Given the description of an element on the screen output the (x, y) to click on. 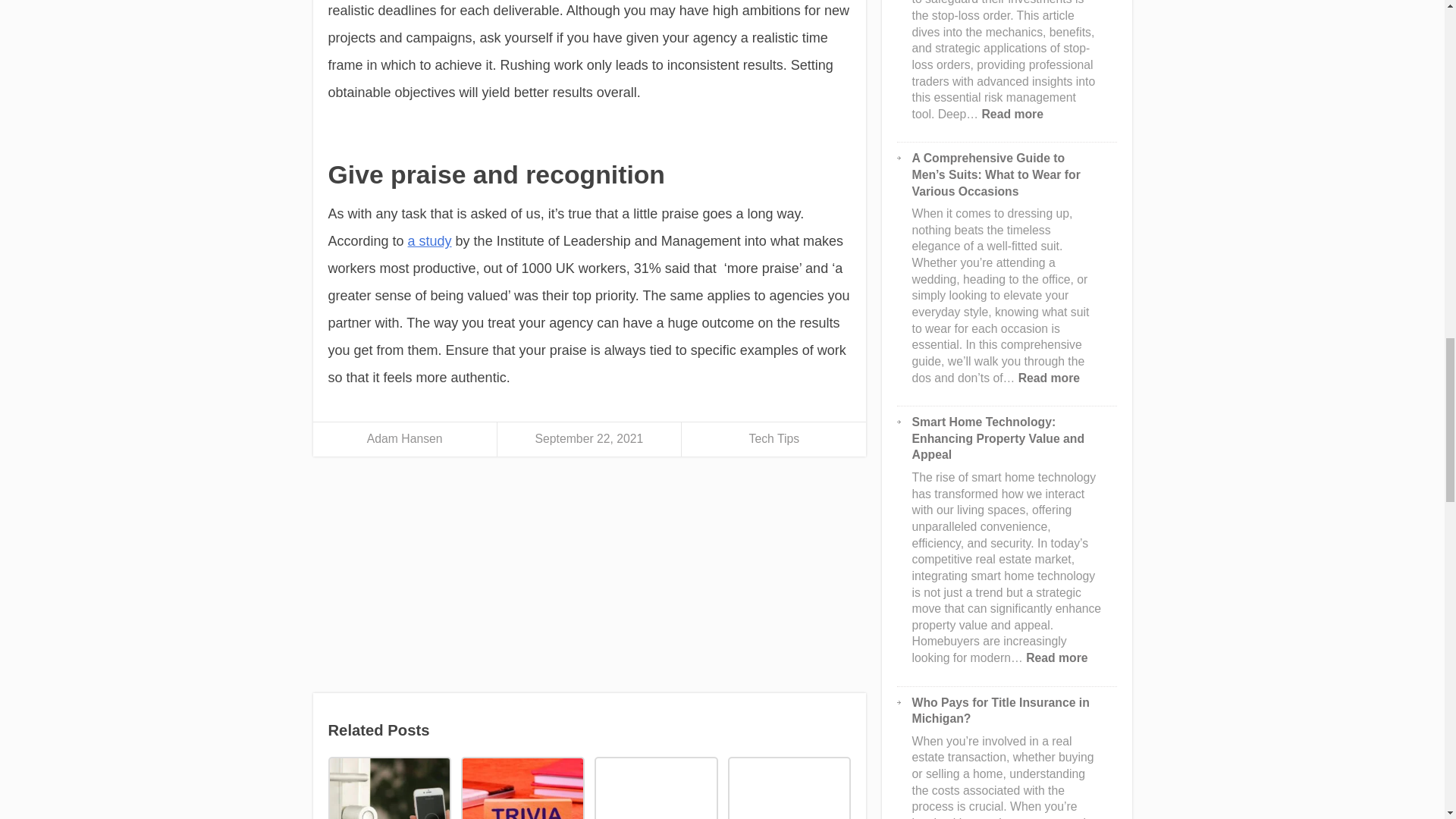
Why Amazon Quiz Reigns Supreme in Online Trivia (522, 787)
Advertisement (589, 579)
Tech Tips (774, 438)
Smart Home Technology: Enhancing Property Value and Appeal (388, 787)
Adam Hansen (404, 438)
a study (429, 240)
